Given the description of an element on the screen output the (x, y) to click on. 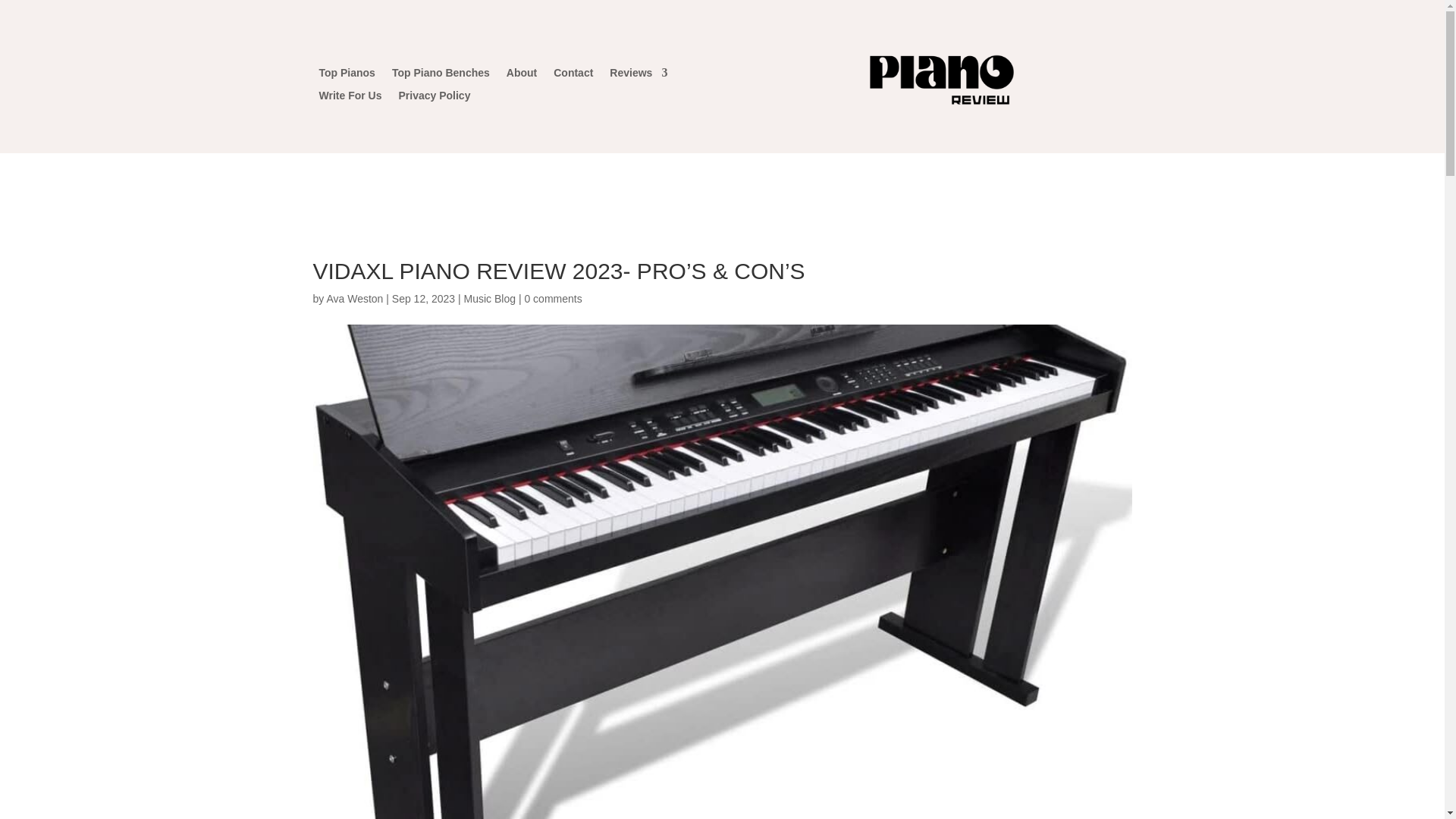
Music Blog (489, 298)
Contact (572, 75)
Write For Us (349, 98)
0 comments (552, 298)
Top Piano Benches (440, 75)
Privacy Policy (433, 98)
Ava Weston (354, 298)
About (521, 75)
Posts by Ava Weston (354, 298)
Top Pianos (346, 75)
Reviews (638, 75)
